Given the description of an element on the screen output the (x, y) to click on. 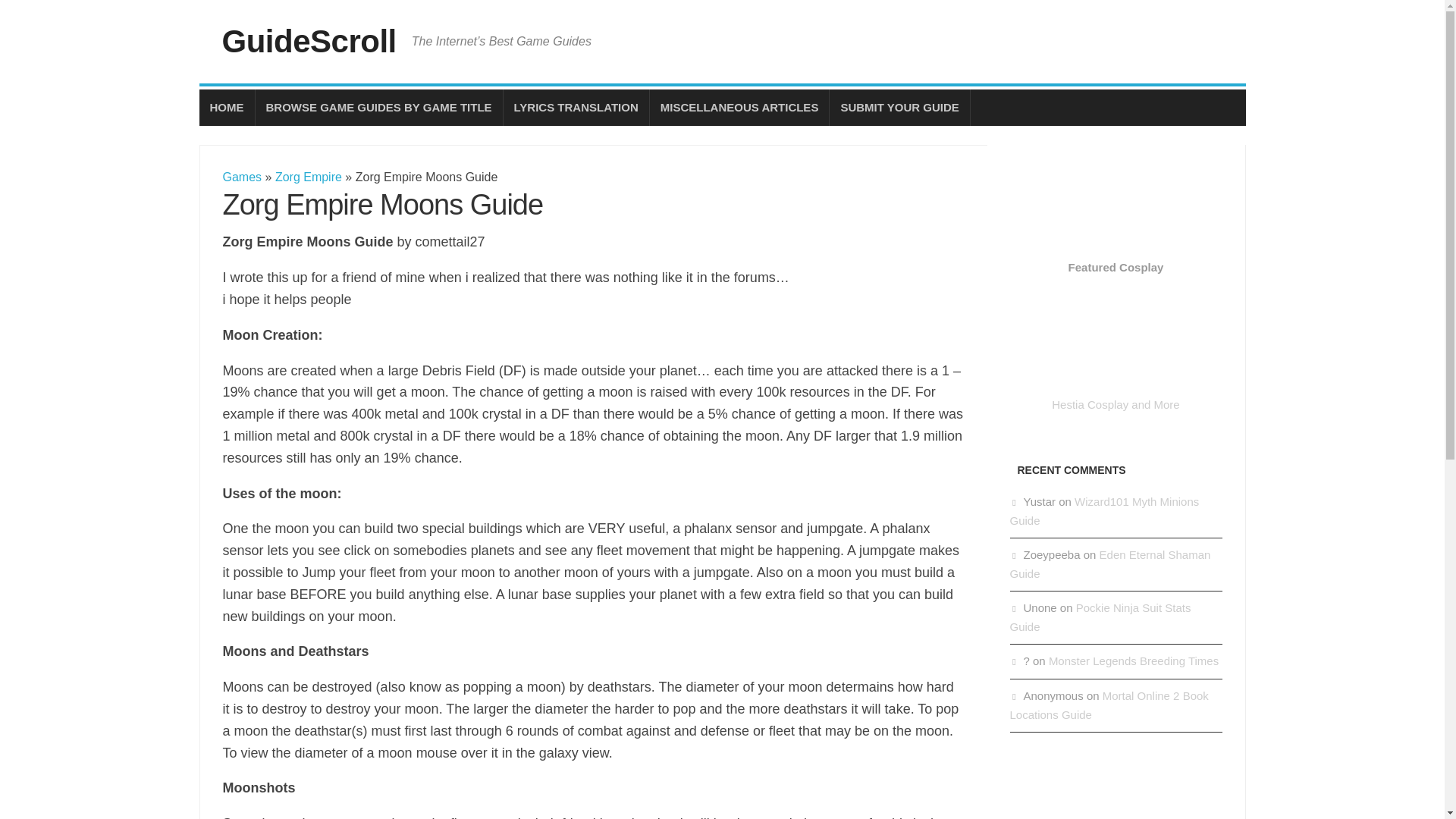
Hestia Cosplay and More (1116, 395)
GuideScroll (308, 41)
Monster Legends Breeding Times (1133, 660)
SUBMIT YOUR GUIDE (899, 107)
Games (242, 176)
MISCELLANEOUS ARTICLES (739, 107)
HOME (225, 107)
Eden Eternal Shaman Guide (1110, 563)
LYRICS TRANSLATION (576, 107)
Zorg Empire (308, 176)
